Given the description of an element on the screen output the (x, y) to click on. 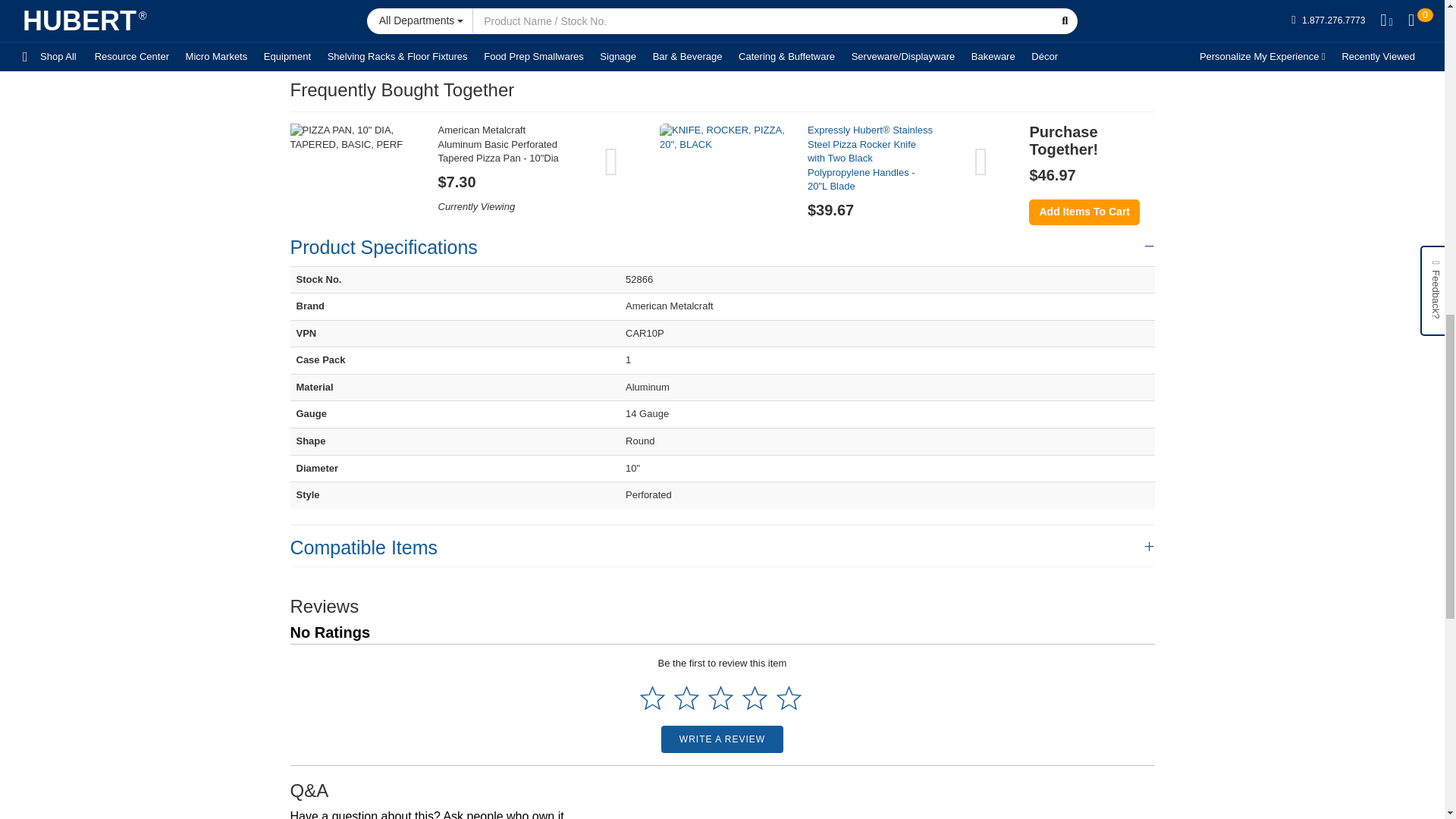
Add to Quote List (985, 5)
Share on Twitter (811, 55)
Share on Pinterest (778, 55)
pizza rocker knife (721, 137)
pizza pan (351, 137)
Share on Facebook (745, 55)
